Given the description of an element on the screen output the (x, y) to click on. 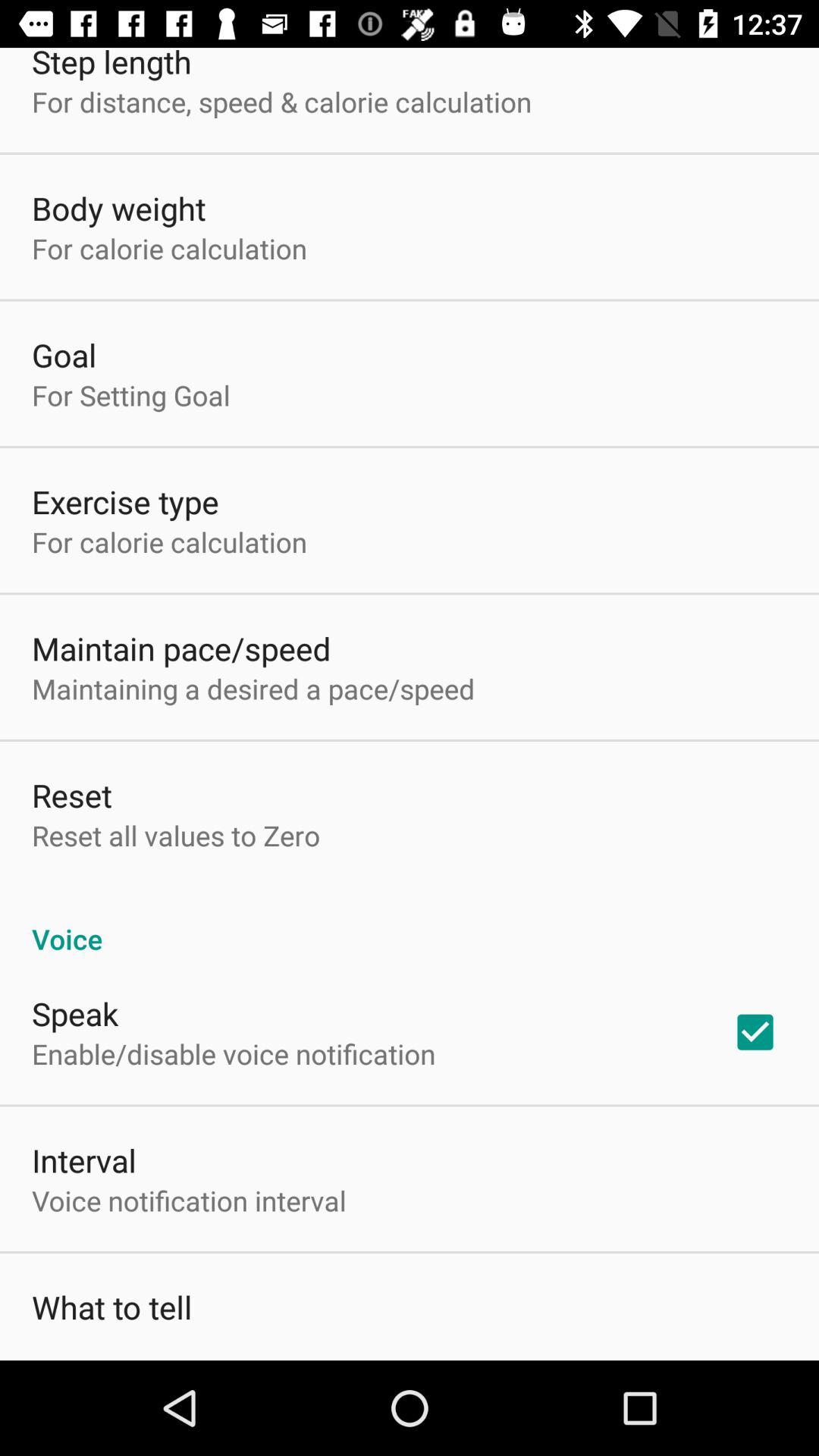
flip to for distance speed icon (281, 101)
